Given the description of an element on the screen output the (x, y) to click on. 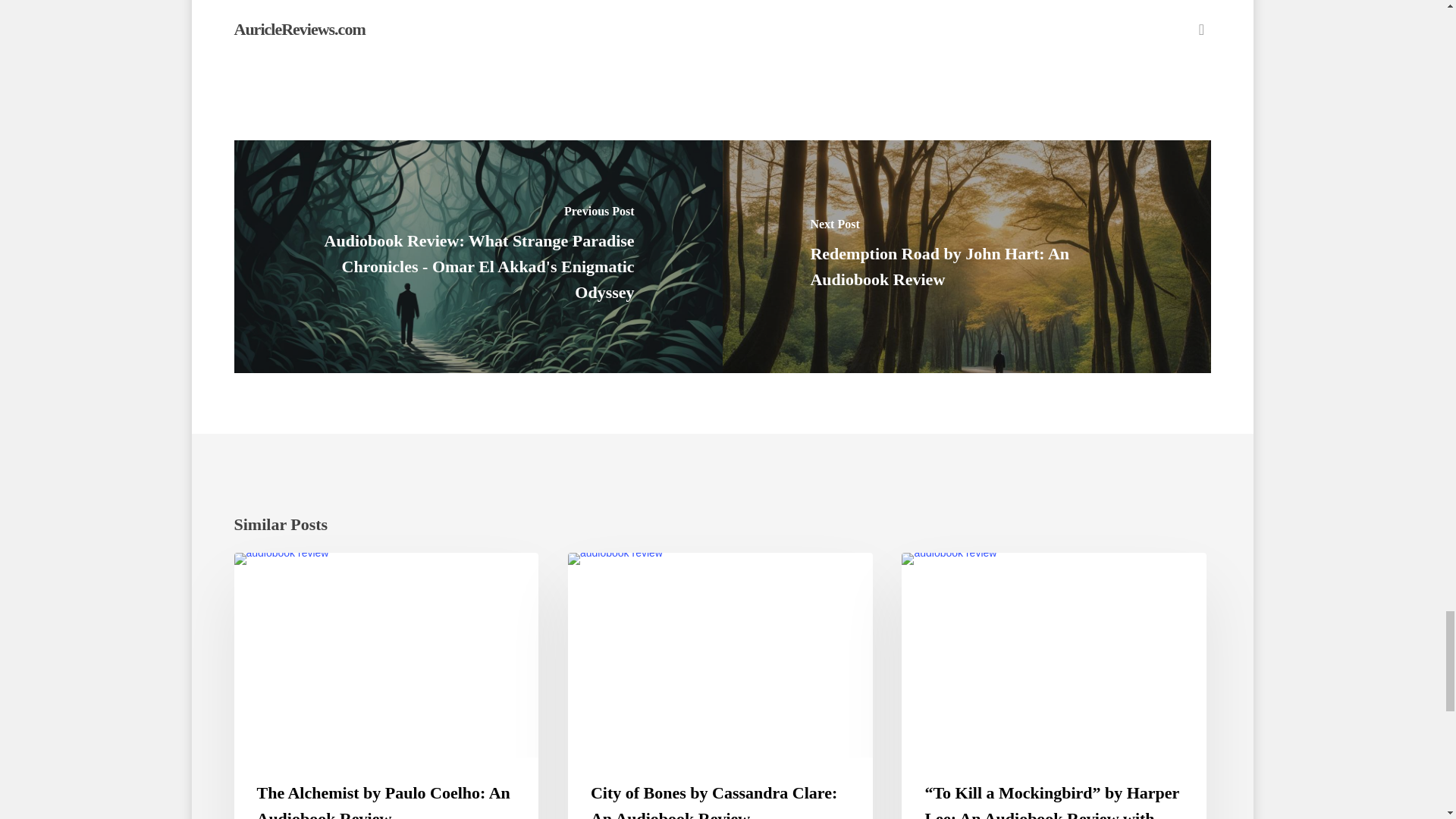
AUDIOBOOK REVIEW 2013 (984, 577)
AUDIOBOOK REVIEW 2013 (651, 577)
AUDIOBOOK REVIEW 2013 (316, 577)
